Given the description of an element on the screen output the (x, y) to click on. 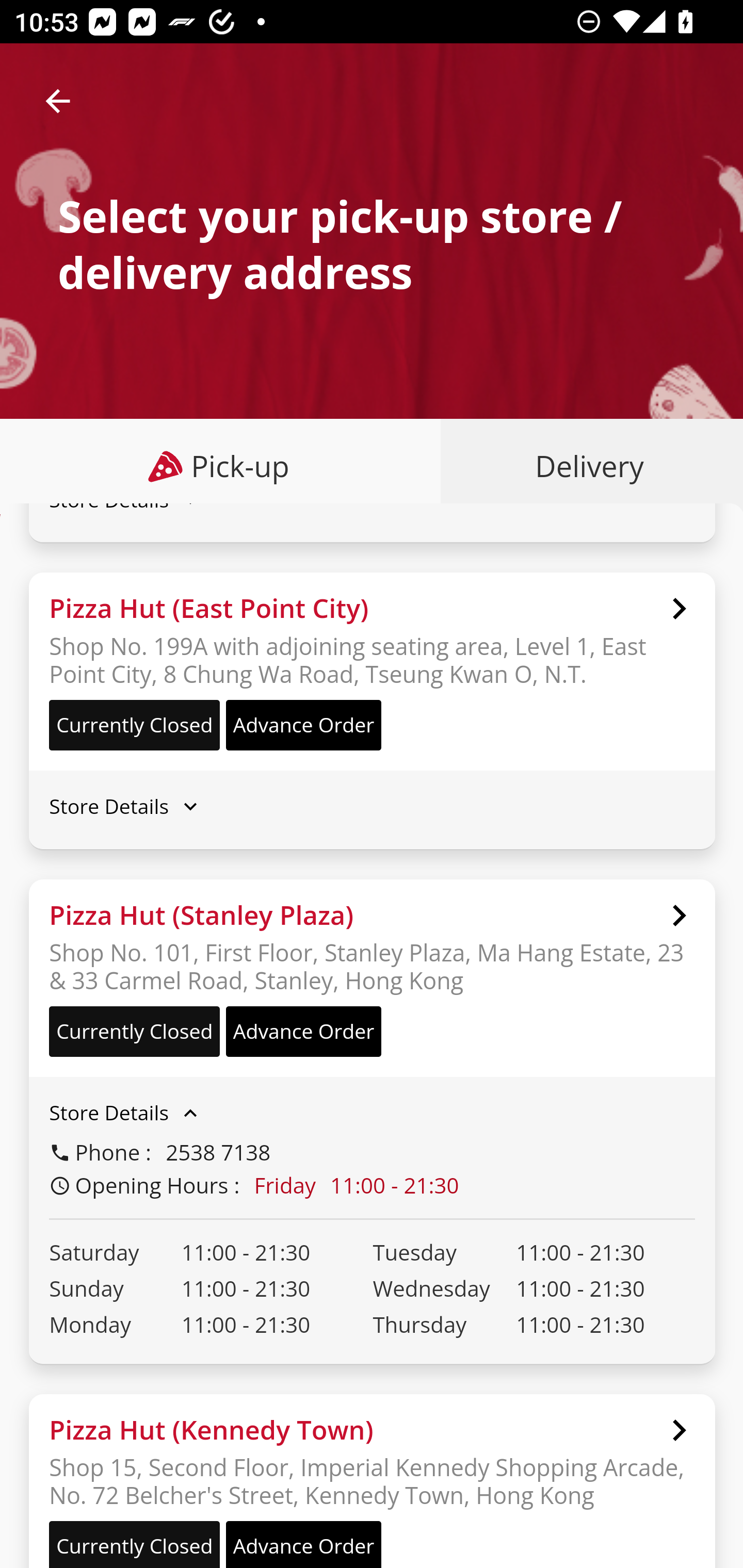
arrow_back (58, 100)
Pick-up (221, 466)
Delivery (585, 466)
Store Details (371, 805)
Store Details (371, 1112)
